Given the description of an element on the screen output the (x, y) to click on. 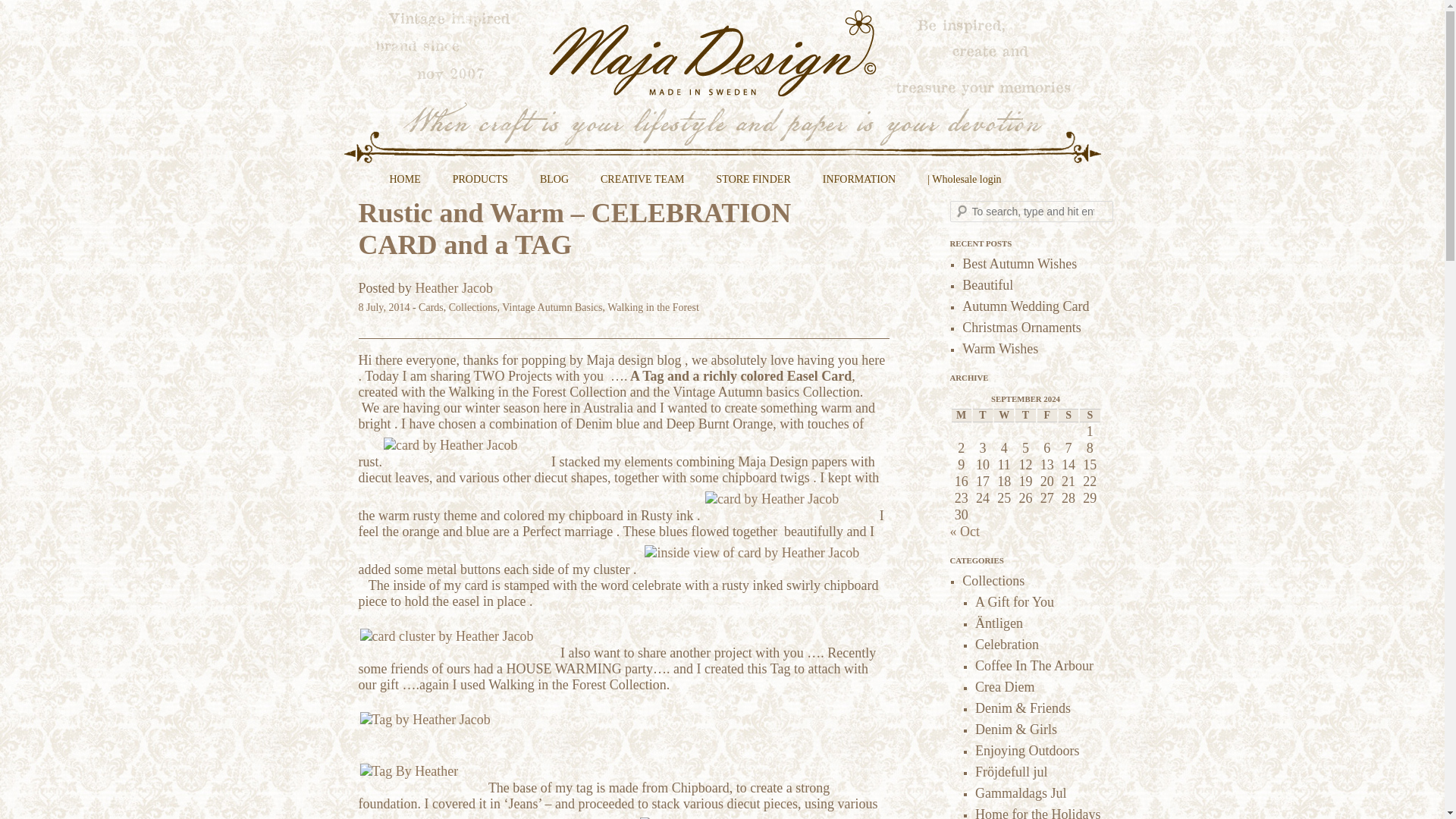
8 July, 2014 (383, 307)
Vintage Autumn Basics (552, 307)
BLOG (553, 185)
PRODUCTS (479, 185)
Autumn Wedding Card (1025, 305)
HOME (404, 185)
Christmas Ornaments (1021, 327)
Collections (472, 307)
Warm Wishes (1000, 348)
STORE FINDER (753, 185)
